Given the description of an element on the screen output the (x, y) to click on. 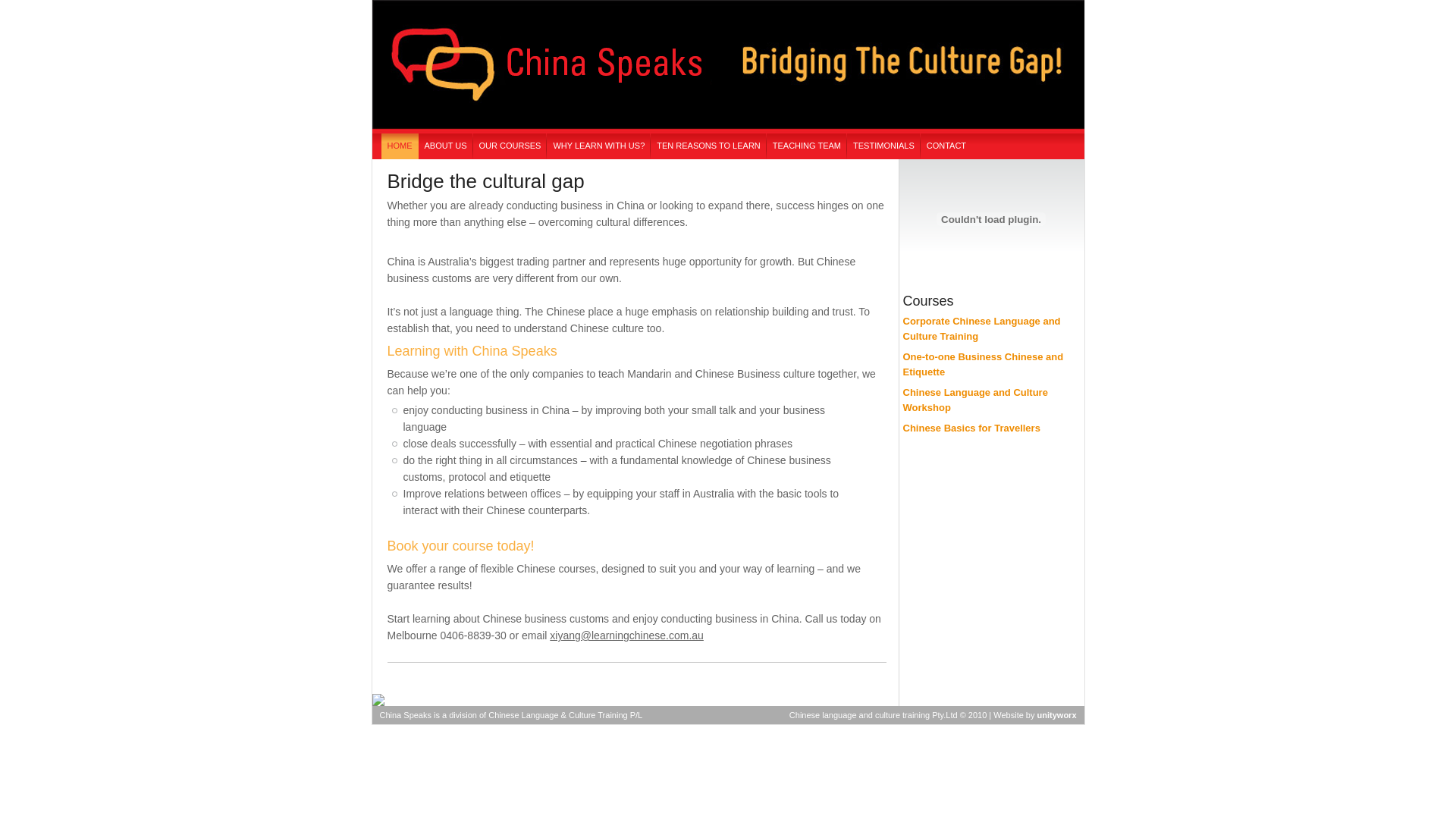
Chinese Language and Culture Workshop Element type: text (974, 399)
One-to-one Business Chinese and Etiquette Element type: text (982, 364)
HOME Element type: text (398, 146)
OUR COURSES Element type: text (510, 146)
Learn mandarin Chinese lanaguge Melbourne Element type: hover (727, 129)
WHY LEARN WITH US? Element type: text (598, 146)
CONTACT Element type: text (946, 146)
xiyang@learningchinese.com.au Element type: text (626, 635)
TESTIMONIALS Element type: text (883, 146)
Corporate Chinese Language and Culture Training Element type: text (981, 328)
TEACHING TEAM Element type: text (806, 146)
TEN REASONS TO LEARN Element type: text (708, 146)
ABOUT US Element type: text (445, 146)
unityworx Element type: text (1056, 714)
Chinese Basics for Travellers Element type: text (970, 427)
